Given the description of an element on the screen output the (x, y) to click on. 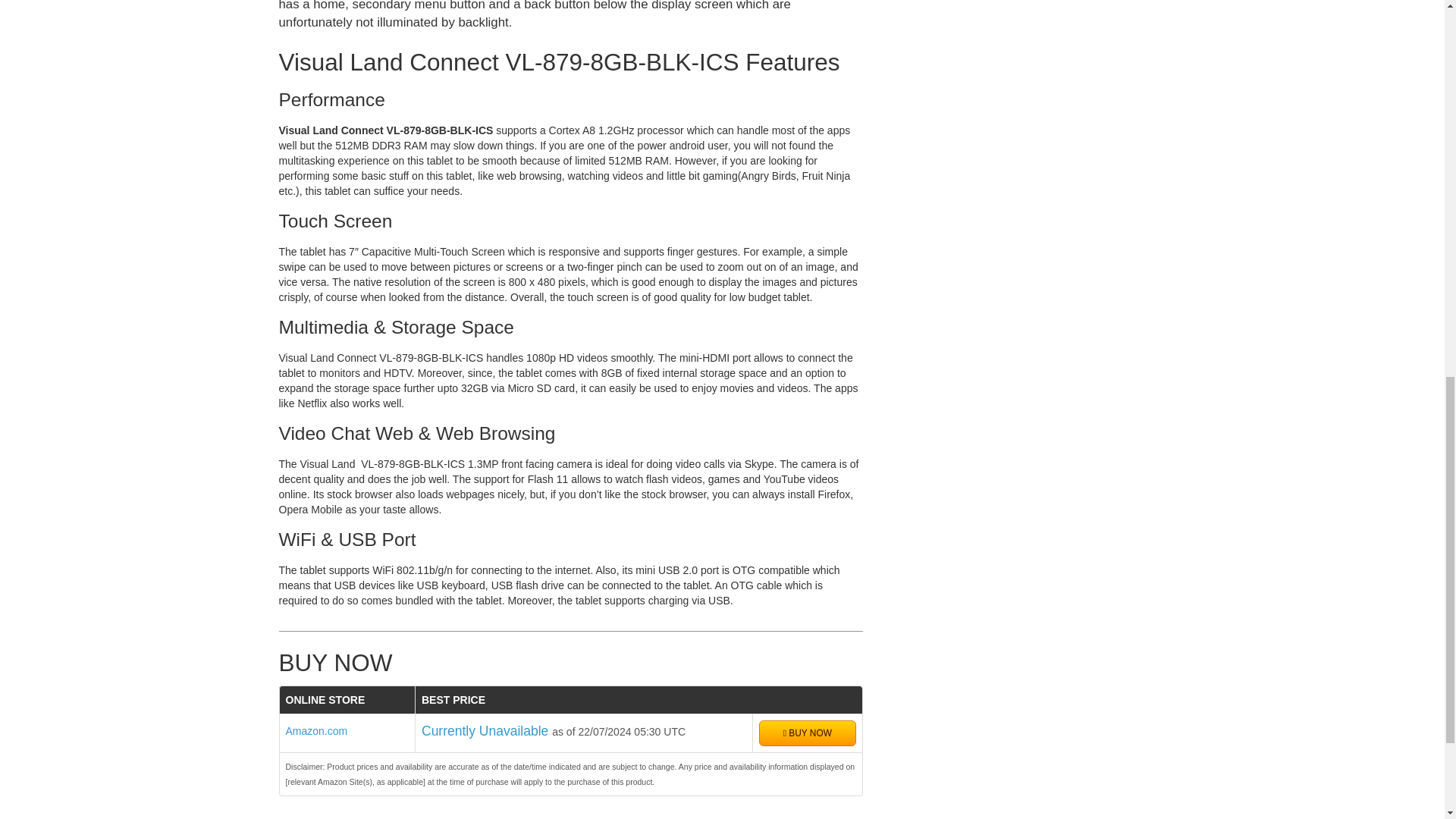
Amazon.com (316, 730)
BUY NOW (807, 733)
Currently Unavailable (486, 730)
